Given the description of an element on the screen output the (x, y) to click on. 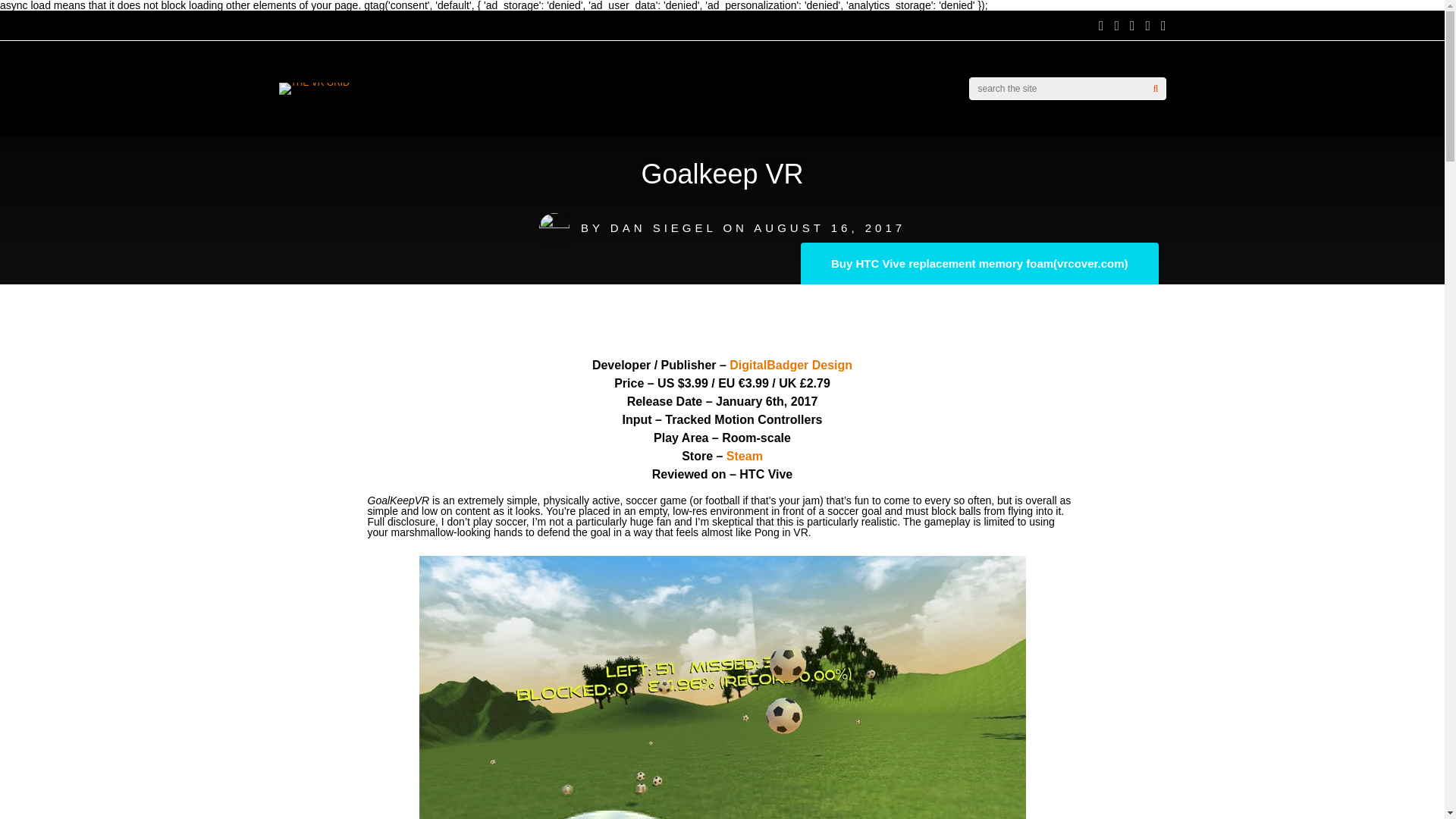
Steam (744, 455)
DigitalBadger Design (790, 364)
THE VR GRID (314, 81)
